Given the description of an element on the screen output the (x, y) to click on. 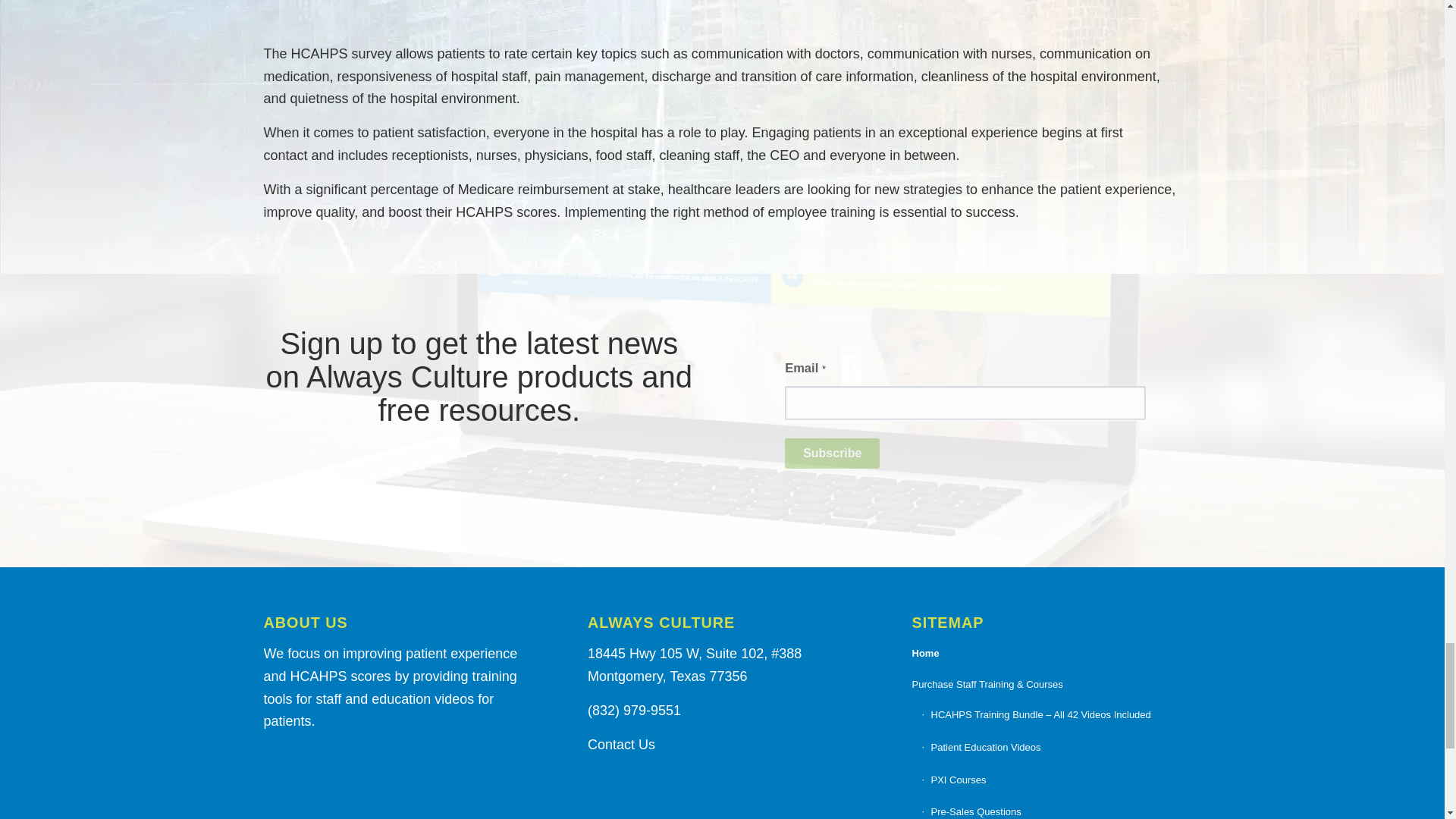
Contact Us (621, 744)
Home (1046, 654)
Pre-Sales Questions (1050, 807)
Subscribe (831, 453)
PXI Courses (1050, 780)
Patient Education Videos (1050, 748)
